Given the description of an element on the screen output the (x, y) to click on. 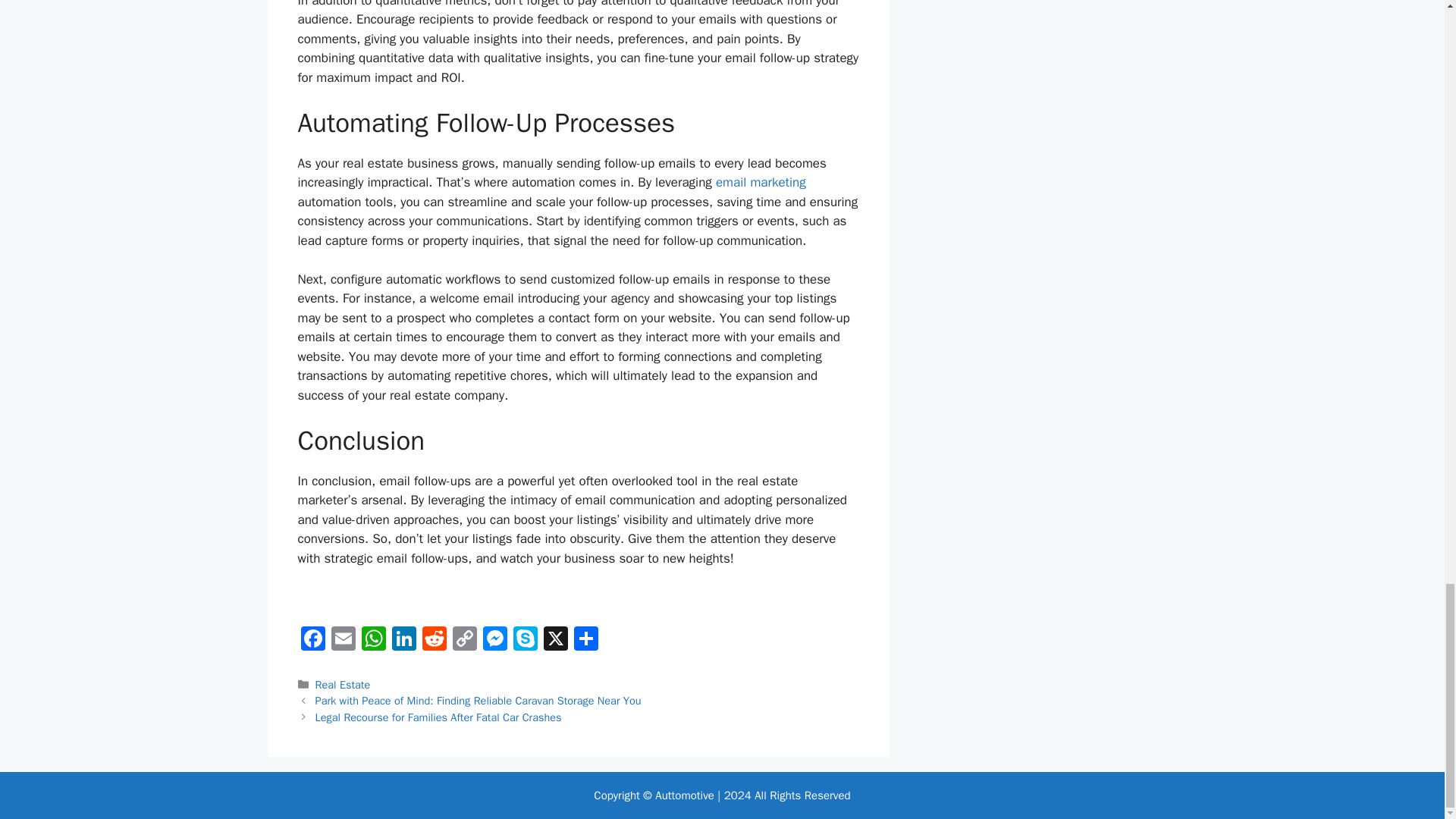
WhatsApp (373, 640)
Copy Link (463, 640)
Reddit (433, 640)
Copy Link (463, 640)
Email (342, 640)
Skype (524, 640)
Reddit (433, 640)
Messenger (494, 640)
Skype (524, 640)
LinkedIn (403, 640)
